Given the description of an element on the screen output the (x, y) to click on. 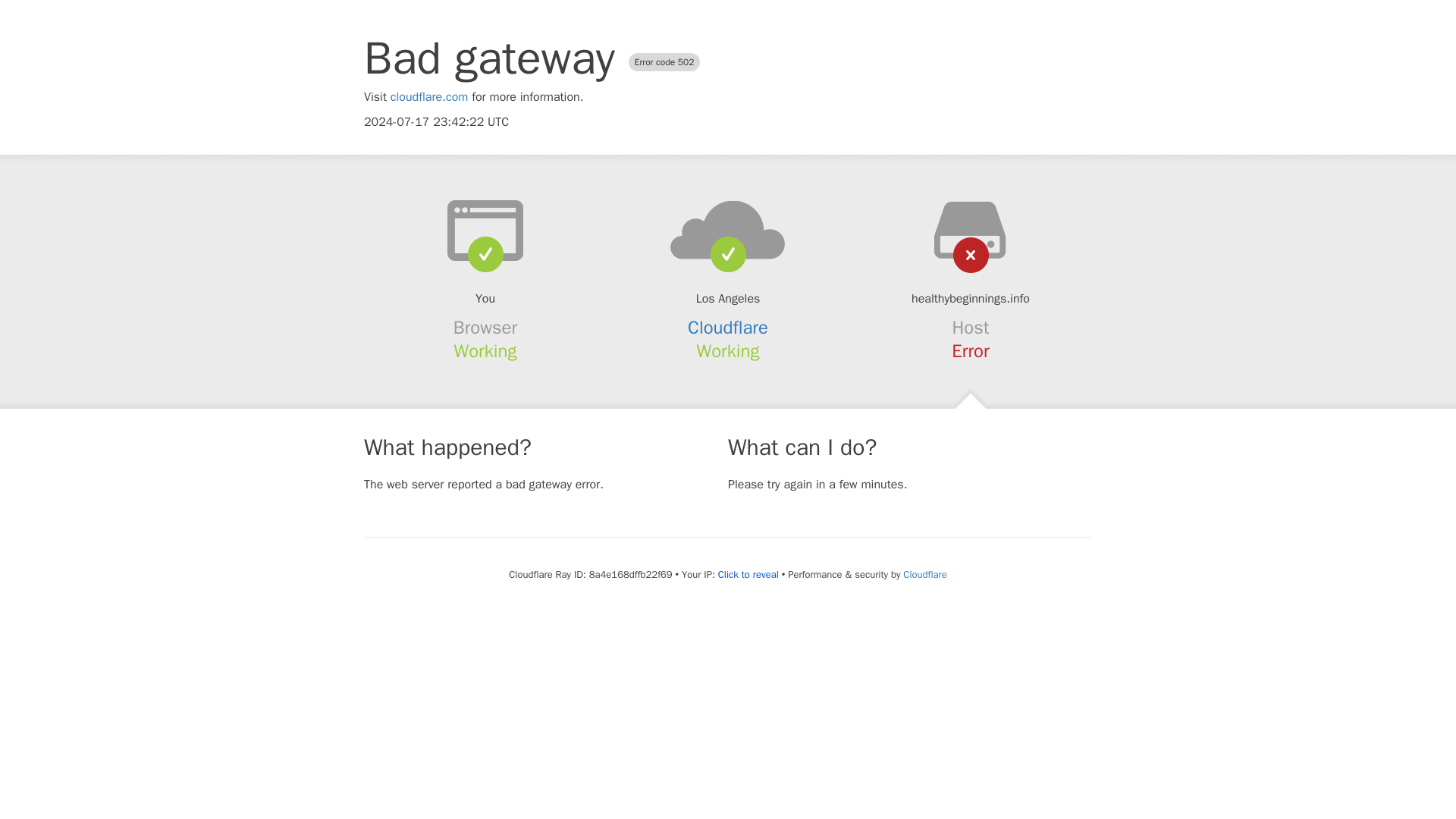
cloudflare.com (429, 96)
Cloudflare (924, 574)
Click to reveal (747, 574)
Cloudflare (727, 327)
